Given the description of an element on the screen output the (x, y) to click on. 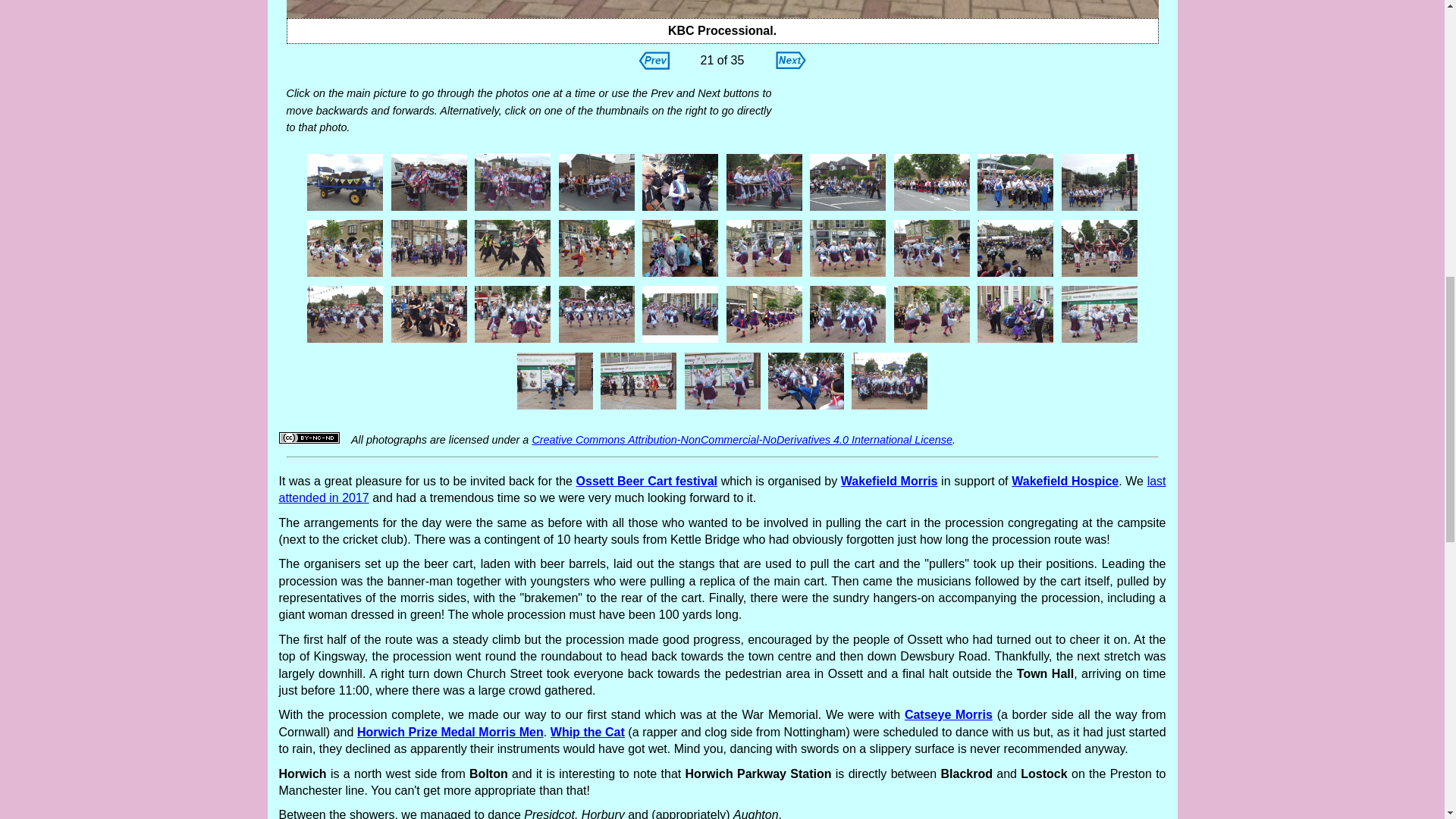
A tight right hand turn. (1015, 208)
Ready for the off. (428, 208)
The littluns lead the procession. (848, 208)
Yoo-hoo! (764, 208)
The dancers put their best foot forward in Presidcot. (344, 274)
It's harder work going uphill. (596, 208)
The famous Ossett Beer Cart. (344, 208)
IMGP6773.JPG (722, 9)
How many morris dancers does it take to pull a beer cart? (931, 208)
The Kettle Bridge band and friends. (428, 274)
Show next photo (789, 64)
Catseye Morris. (512, 274)
John plays along. (680, 208)
Horwich Prize Medal Morris Men. (596, 274)
